Given the description of an element on the screen output the (x, y) to click on. 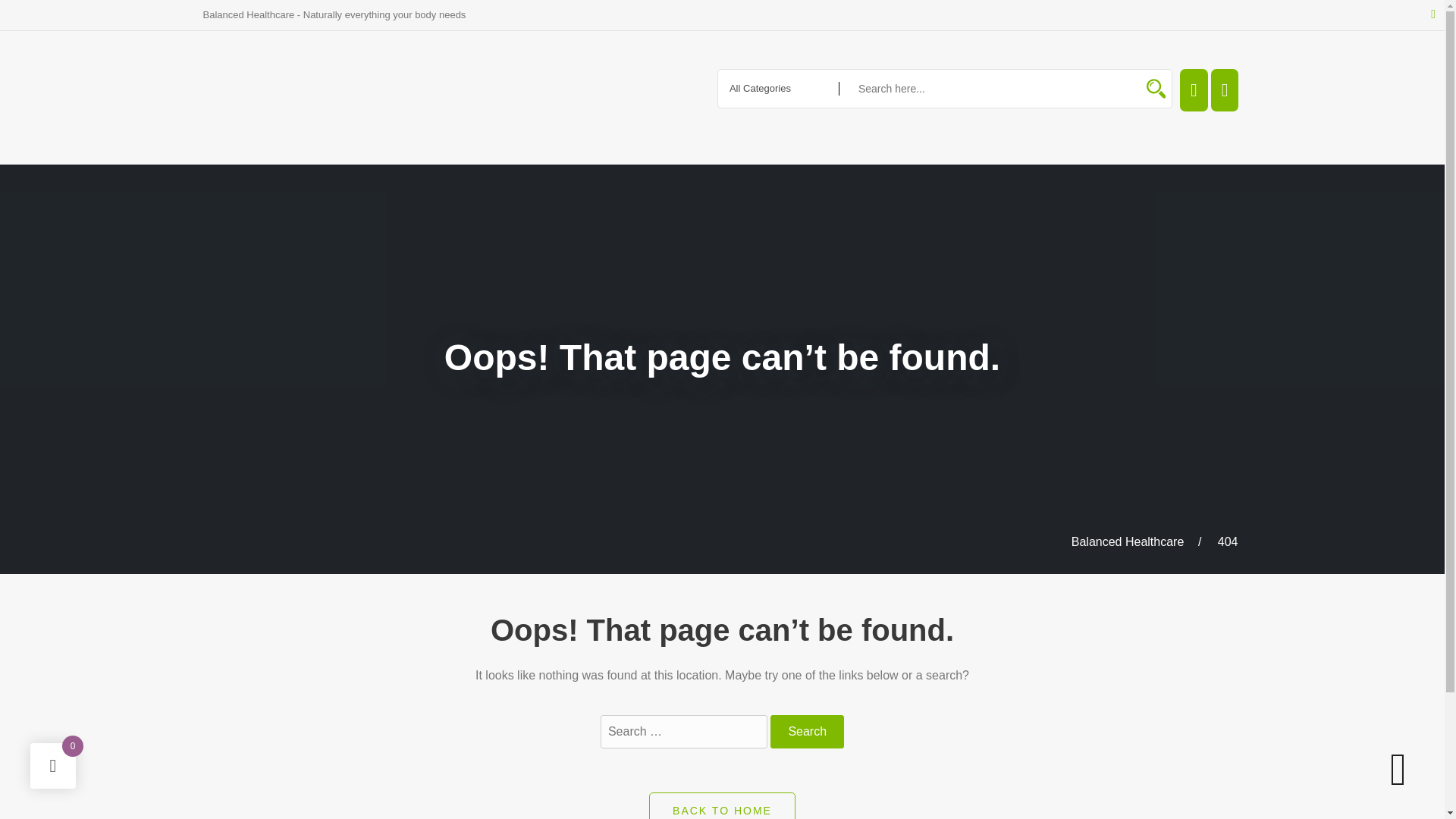
Search (807, 731)
Go to Balanced Healthcare. (1128, 541)
Go to 404. (1228, 541)
Search (807, 731)
